Given the description of an element on the screen output the (x, y) to click on. 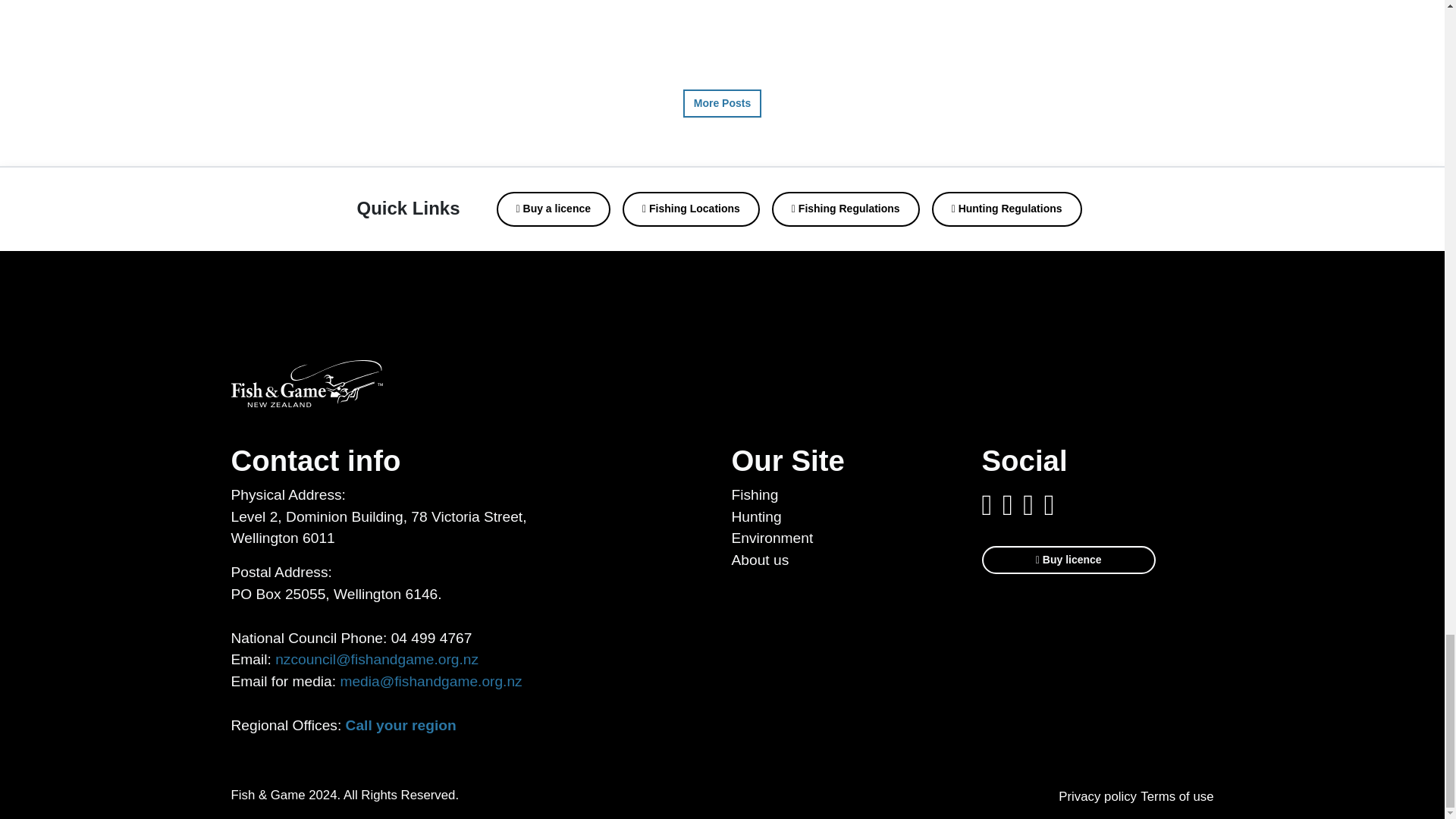
Environment (771, 537)
Hunting Regulations (1006, 208)
Fishing (753, 494)
More Posts (721, 103)
Fishing Regulations (845, 208)
Call your region (401, 725)
Hunting (755, 516)
Buy licence (1068, 560)
Buy a licence (553, 208)
About us (759, 560)
Fishing Locations (691, 208)
